Given the description of an element on the screen output the (x, y) to click on. 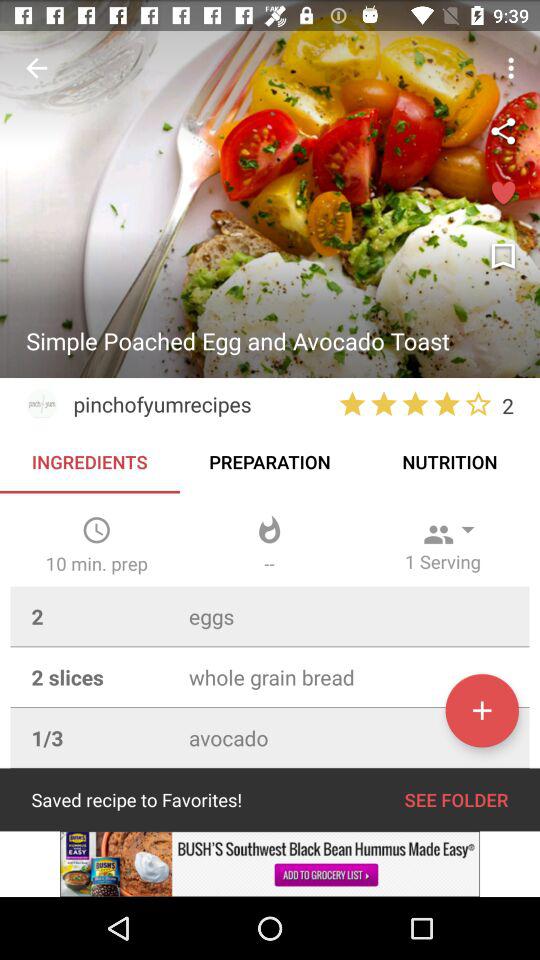
add to favorites (482, 710)
